Given the description of an element on the screen output the (x, y) to click on. 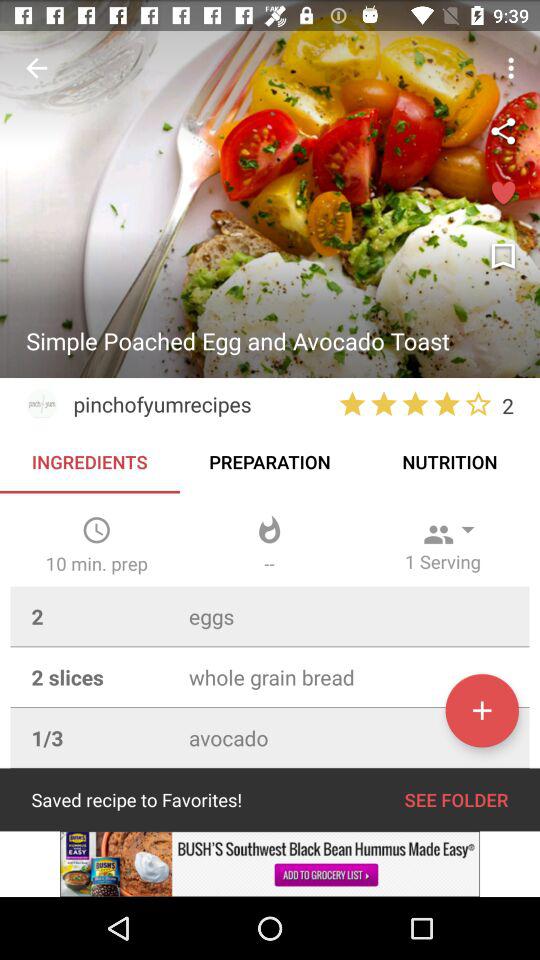
add to favorites (482, 710)
